Given the description of an element on the screen output the (x, y) to click on. 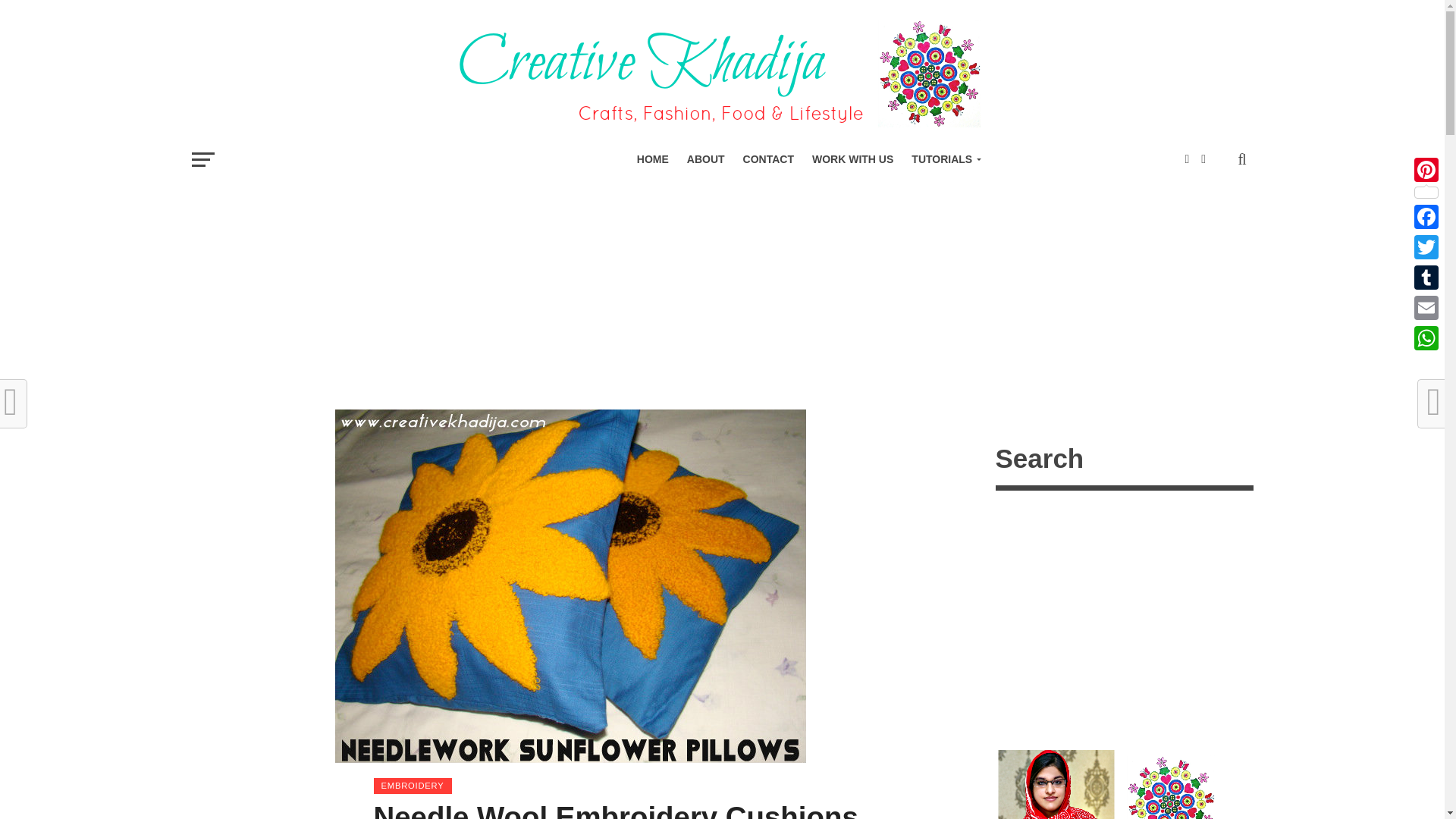
CONTACT (768, 158)
WORK WITH US (852, 158)
TUTORIALS (943, 158)
HOME (652, 158)
ABOUT (705, 158)
Search (1123, 461)
